Given the description of an element on the screen output the (x, y) to click on. 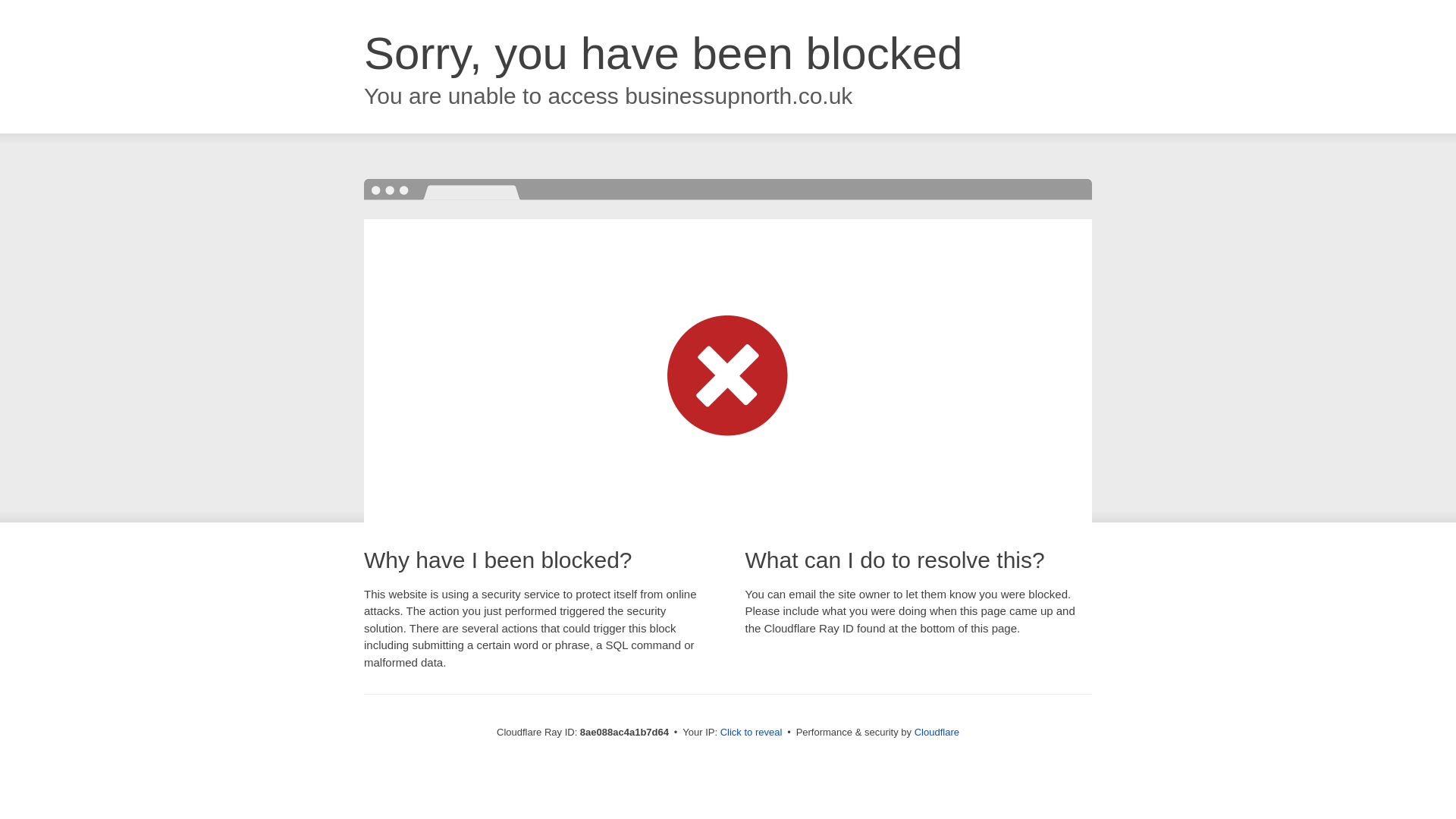
Cloudflare (936, 731)
Click to reveal (751, 732)
